Given the description of an element on the screen output the (x, y) to click on. 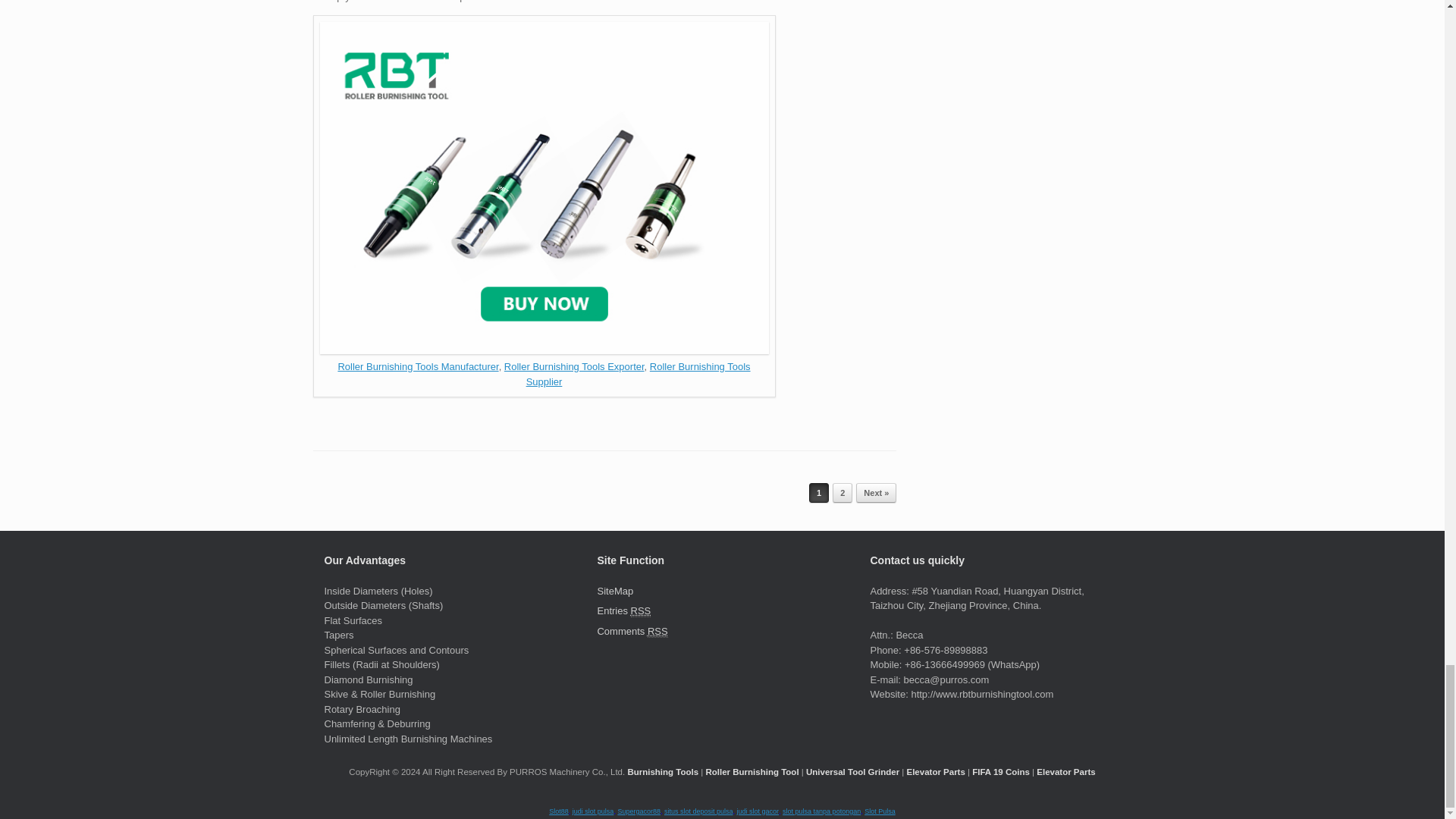
Really Simple Syndication (657, 631)
Really Simple Syndication (640, 611)
